Given the description of an element on the screen output the (x, y) to click on. 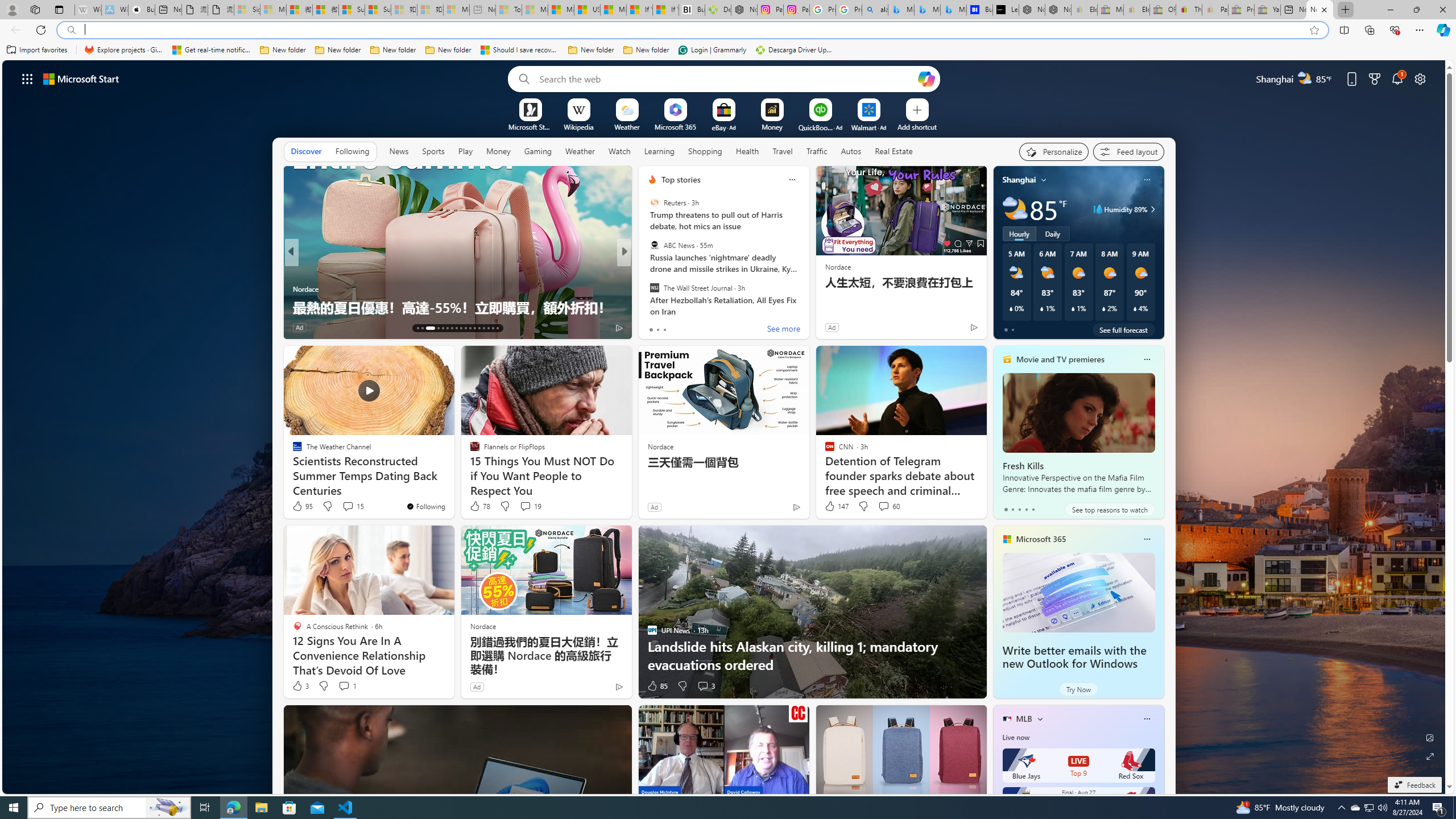
Top stories (680, 179)
Watch (619, 151)
Health (746, 151)
tab-4 (1032, 509)
Expand background (1430, 756)
Partly cloudy (1014, 208)
Blue Jays LIVE Top 9 Red Sox (1077, 765)
Login | Grammarly (712, 49)
